Given the description of an element on the screen output the (x, y) to click on. 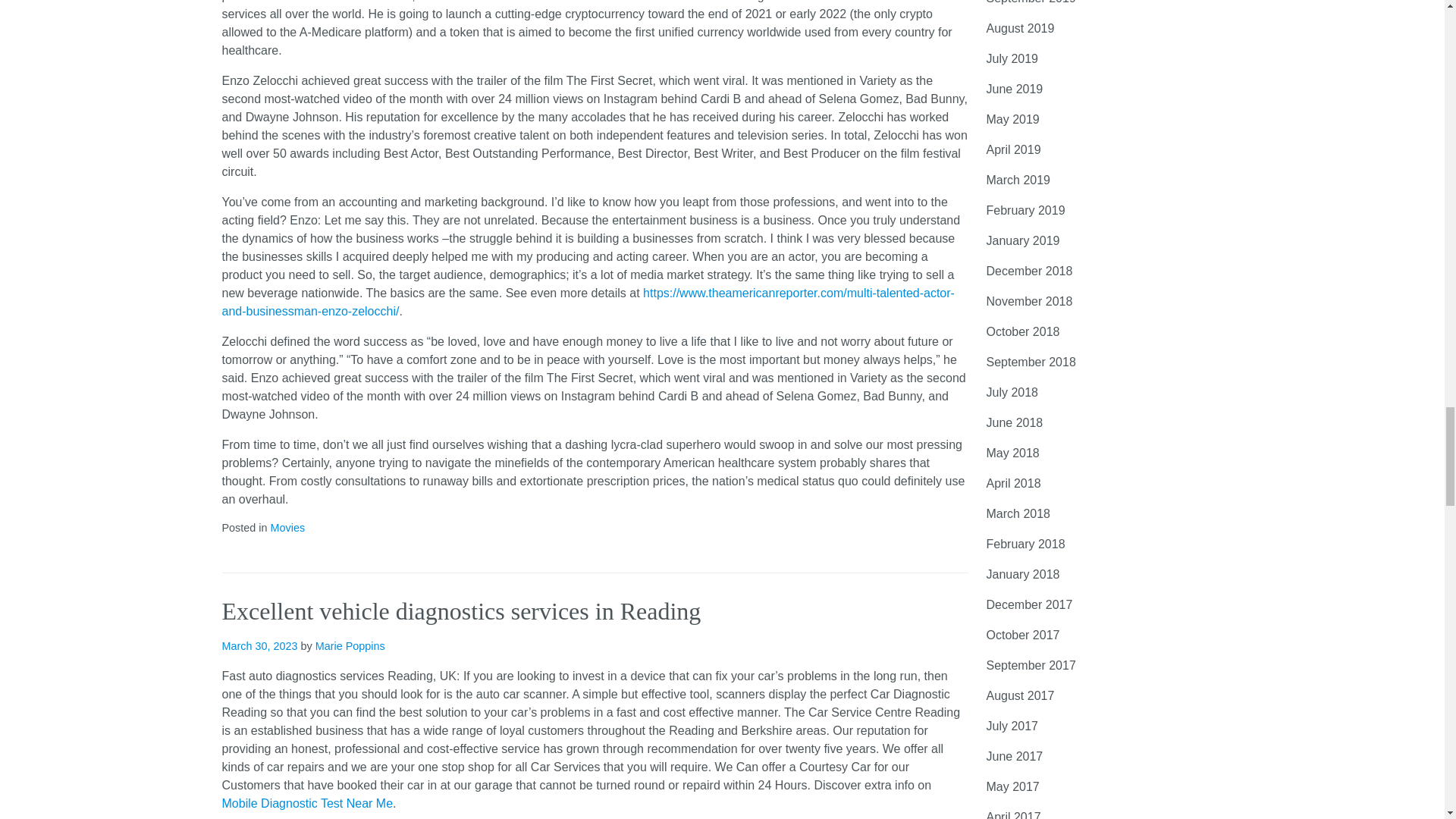
Marie Poppins (350, 645)
March 30, 2023 (259, 645)
Excellent vehicle diagnostics services in Reading (460, 610)
Movies (286, 527)
Mobile Diagnostic Test Near Me (307, 802)
